Given the description of an element on the screen output the (x, y) to click on. 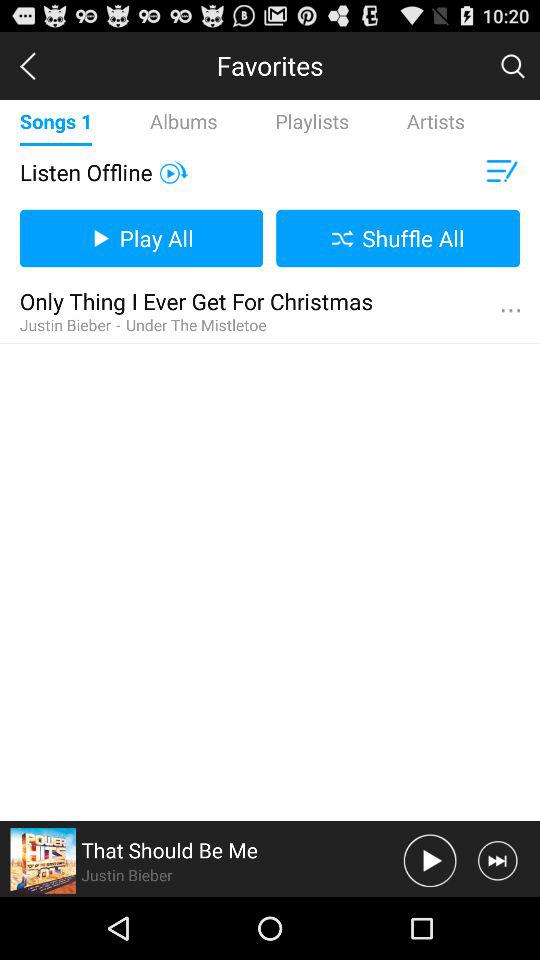
album image (43, 860)
